Given the description of an element on the screen output the (x, y) to click on. 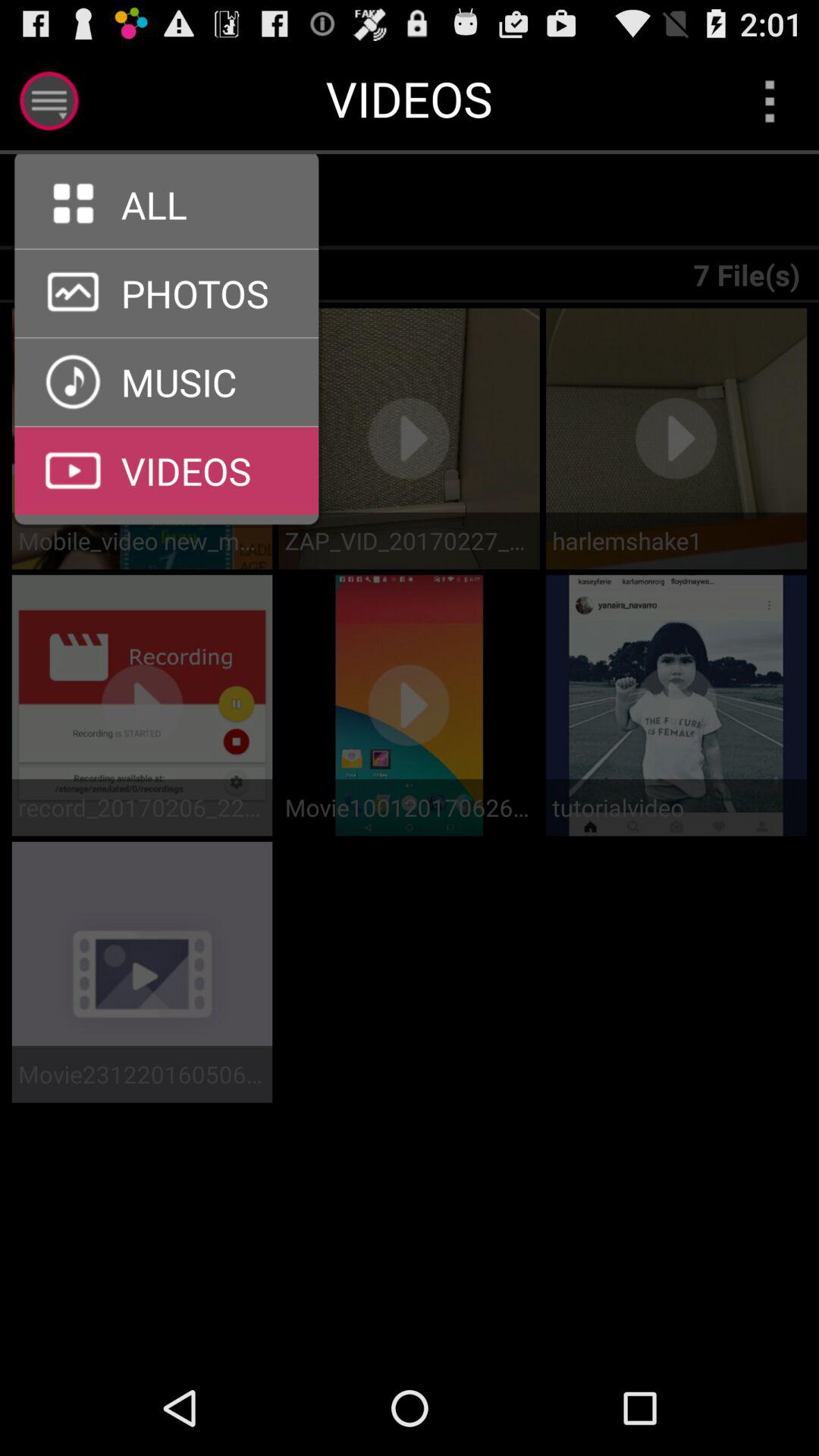
turn on the icon above all devices icon (166, 248)
